Given the description of an element on the screen output the (x, y) to click on. 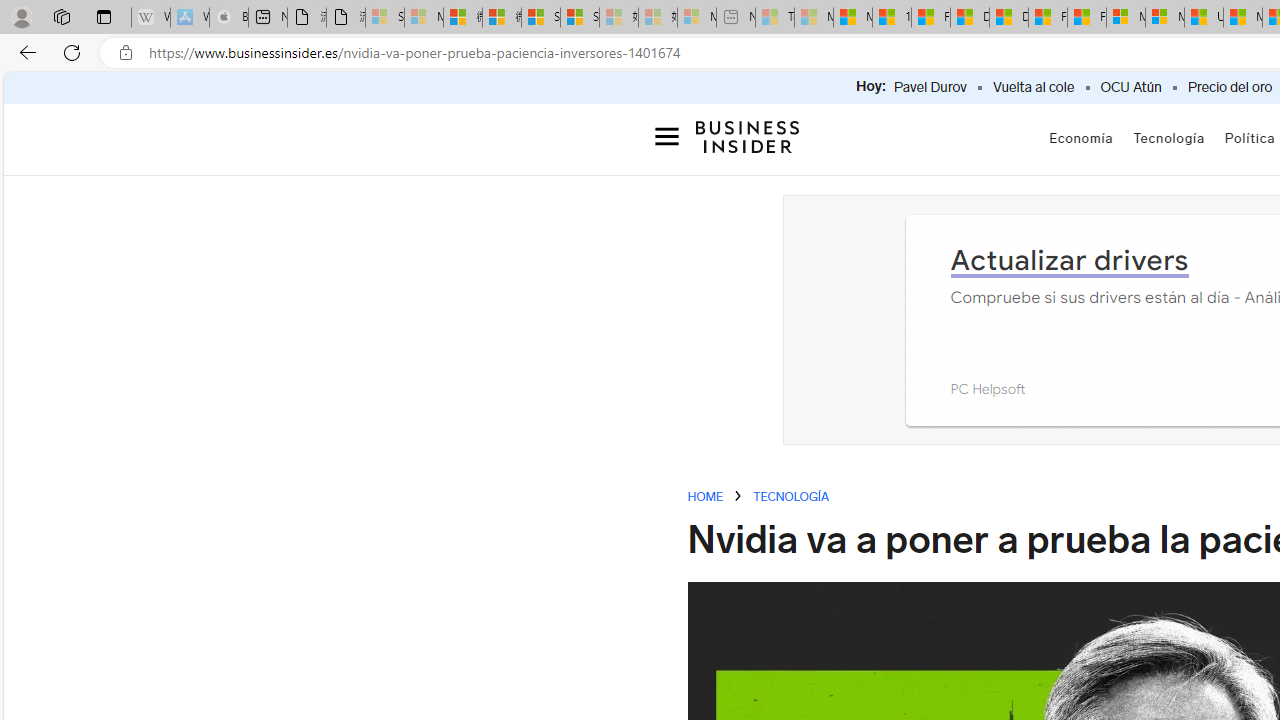
Pavel Durov (929, 88)
Vuelta al cole (1033, 88)
Foo BAR | Trusted Community Engagement and Contributions (1086, 17)
Microsoft account | Account Checkup - Sleeping (696, 17)
HOME (705, 496)
Precio del oro (1229, 88)
Actualizar drivers (1069, 259)
